Given the description of an element on the screen output the (x, y) to click on. 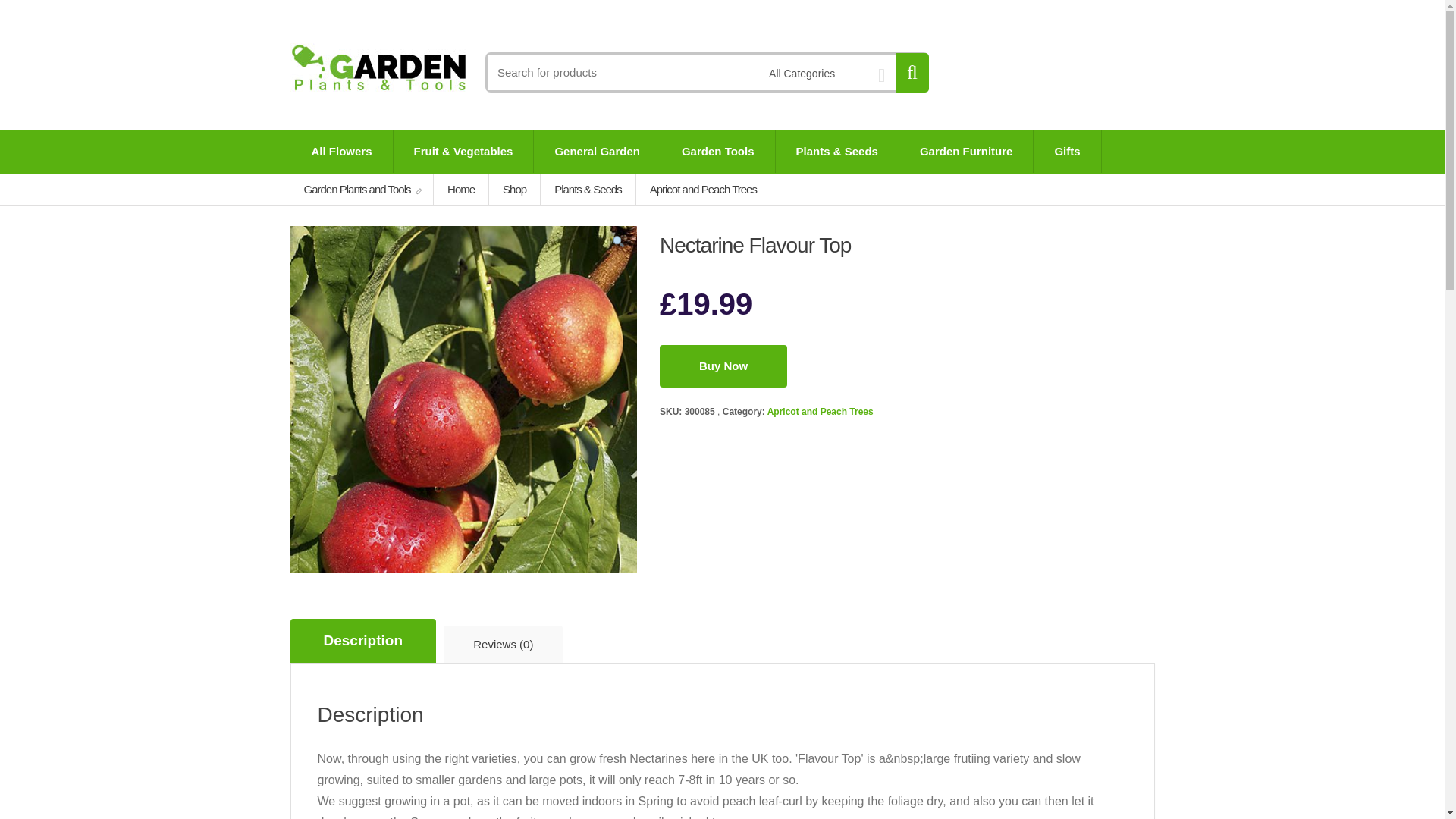
Gifts (1066, 151)
Garden Plants and Tools (361, 188)
All Flowers (342, 151)
All Flowers (342, 151)
Garden Tools (717, 151)
General Garden (597, 151)
Gifts (1066, 151)
Garden Furniture (966, 151)
300085.jpg (463, 399)
General Garden (597, 151)
